Given the description of an element on the screen output the (x, y) to click on. 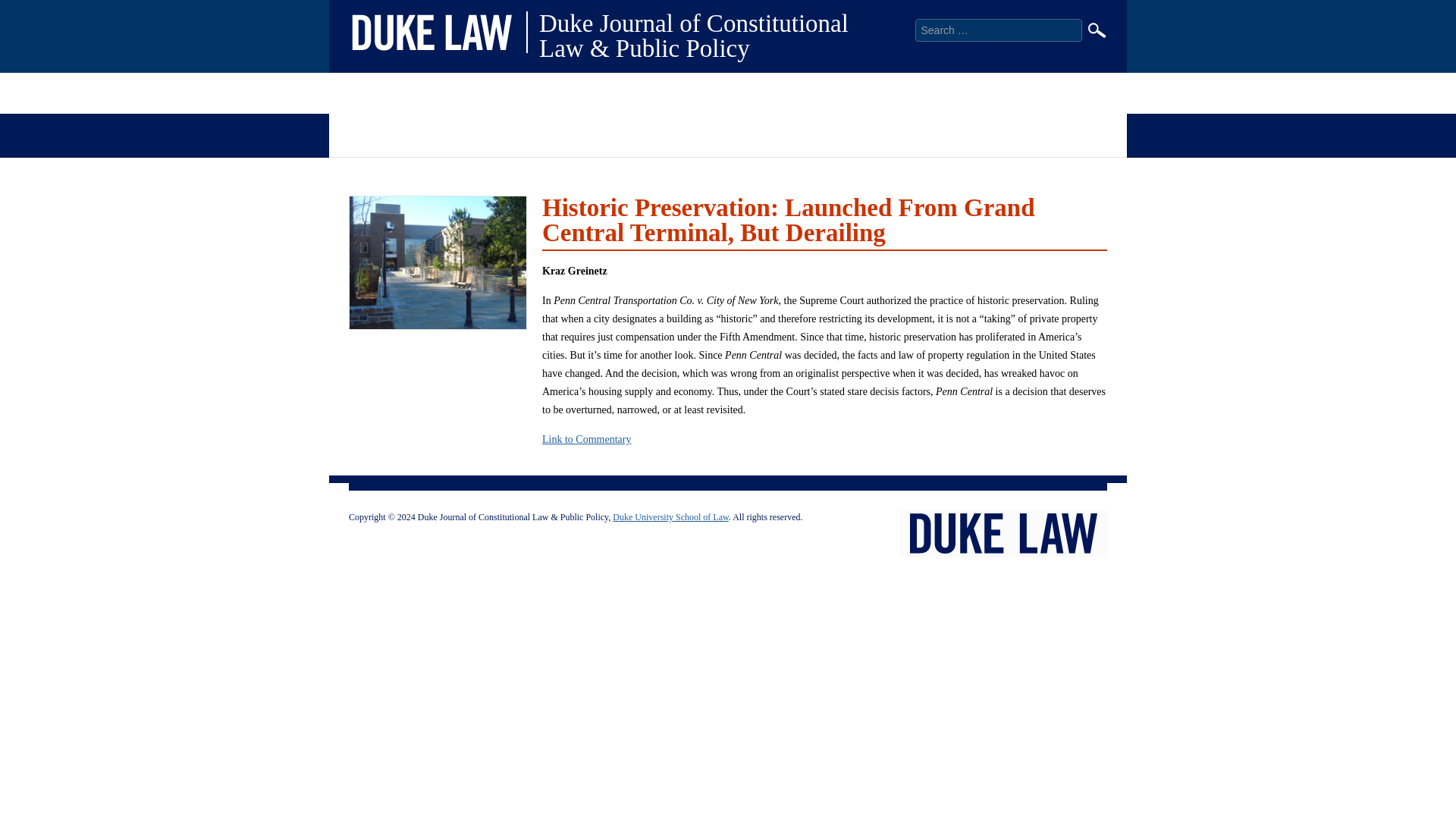
Contact (629, 133)
About (349, 133)
Duke University School of Law (670, 516)
HOME (370, 93)
Masthead (501, 133)
SIDEBAR (827, 93)
Author Agreements (422, 133)
Search for: (998, 29)
Go (1096, 29)
ARCHIVE (460, 93)
